Given the description of an element on the screen output the (x, y) to click on. 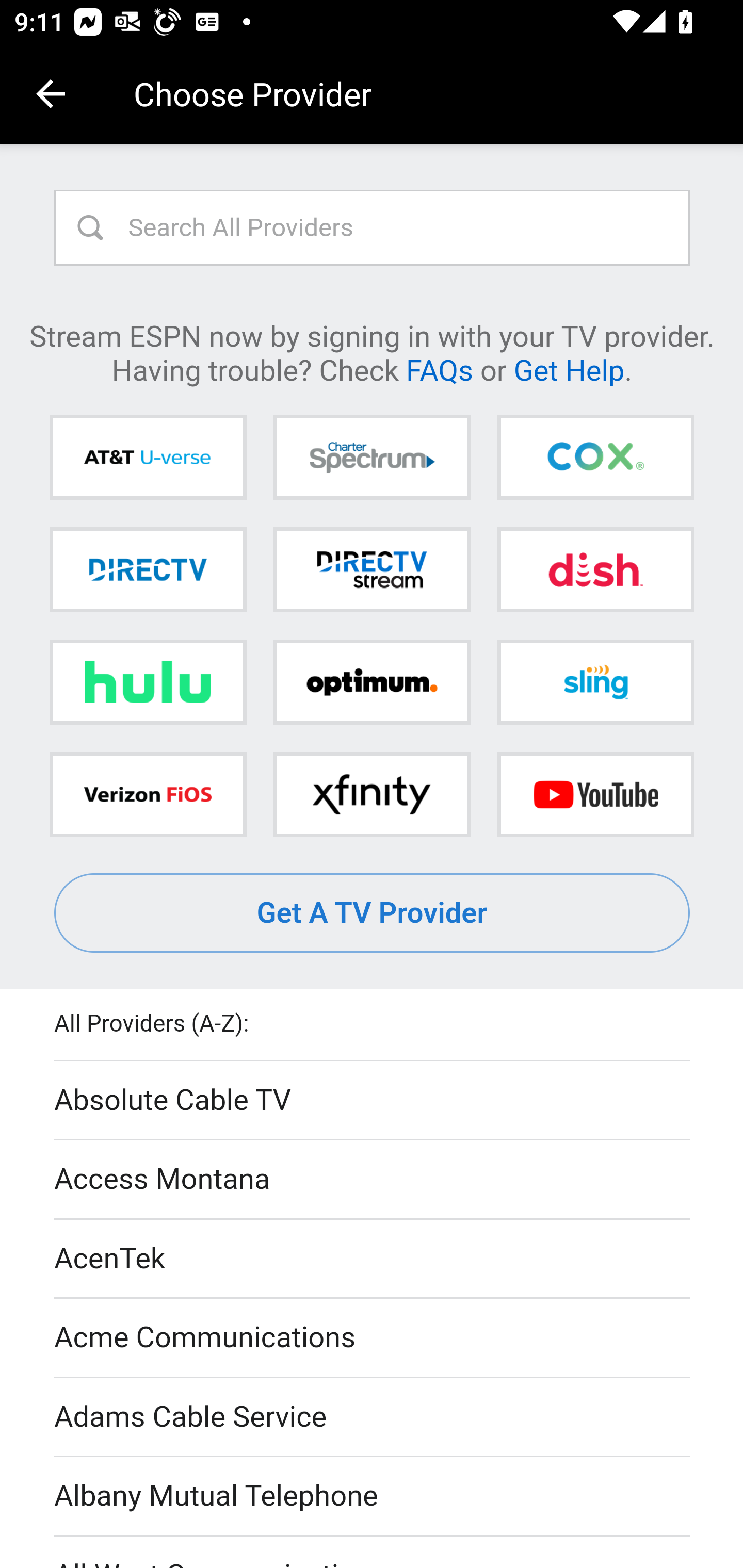
Navigate up (50, 93)
FAQs (438, 369)
Get Help (569, 369)
AT&T U-verse (147, 457)
Charter Spectrum (371, 457)
Cox (595, 457)
DIRECTV (147, 568)
DIRECTV STREAM (371, 568)
DISH (595, 568)
Hulu (147, 681)
Optimum (371, 681)
Sling TV (595, 681)
Verizon FiOS (147, 793)
Xfinity (371, 793)
YouTube TV (595, 793)
Get A TV Provider (372, 912)
Absolute Cable TV (372, 1100)
Access Montana (372, 1178)
AcenTek (372, 1258)
Acme Communications (372, 1338)
Adams Cable Service (372, 1417)
Albany Mutual Telephone (372, 1497)
